Given the description of an element on the screen output the (x, y) to click on. 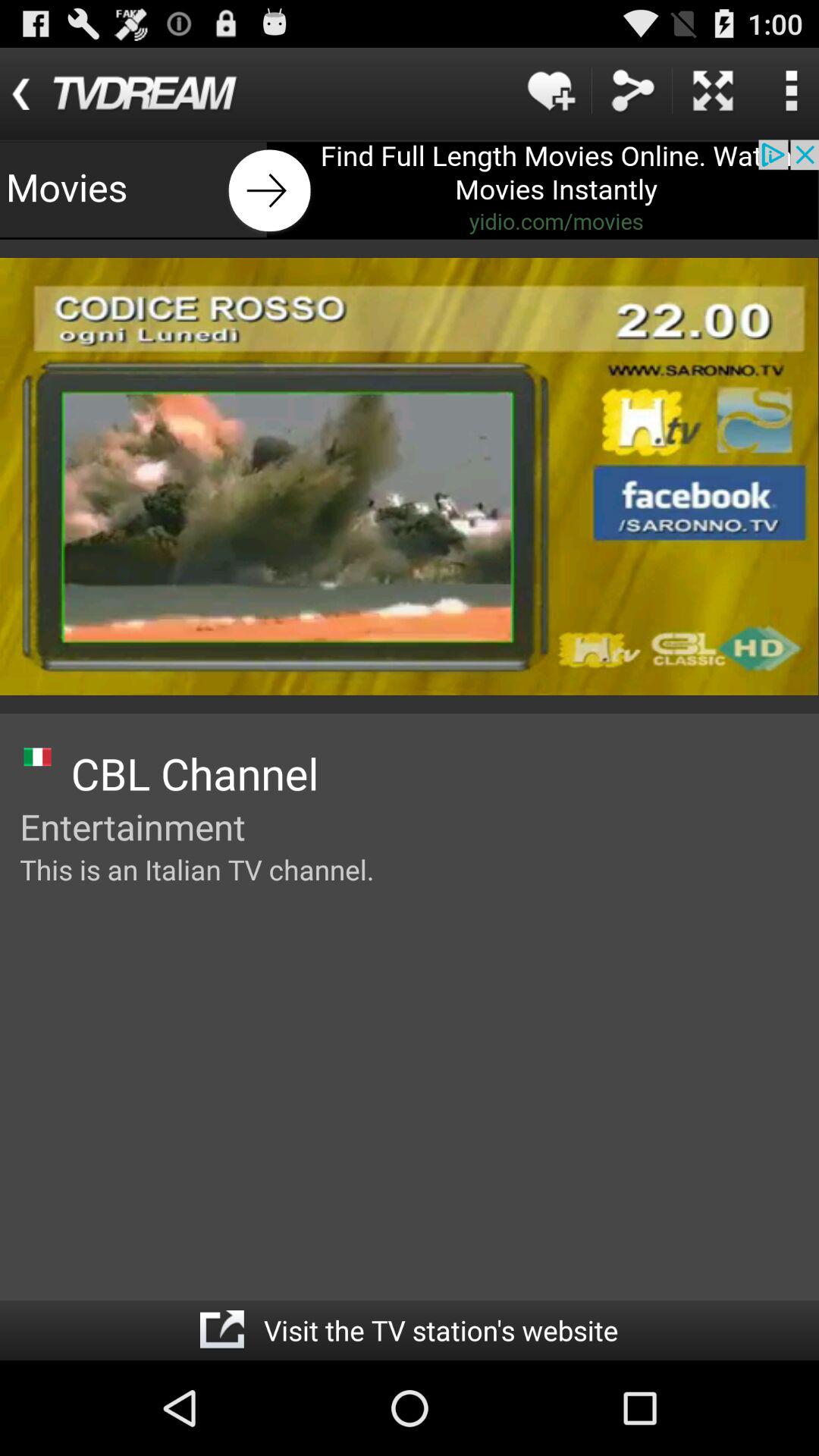
visit the station you on ons website (221, 1330)
